Given the description of an element on the screen output the (x, y) to click on. 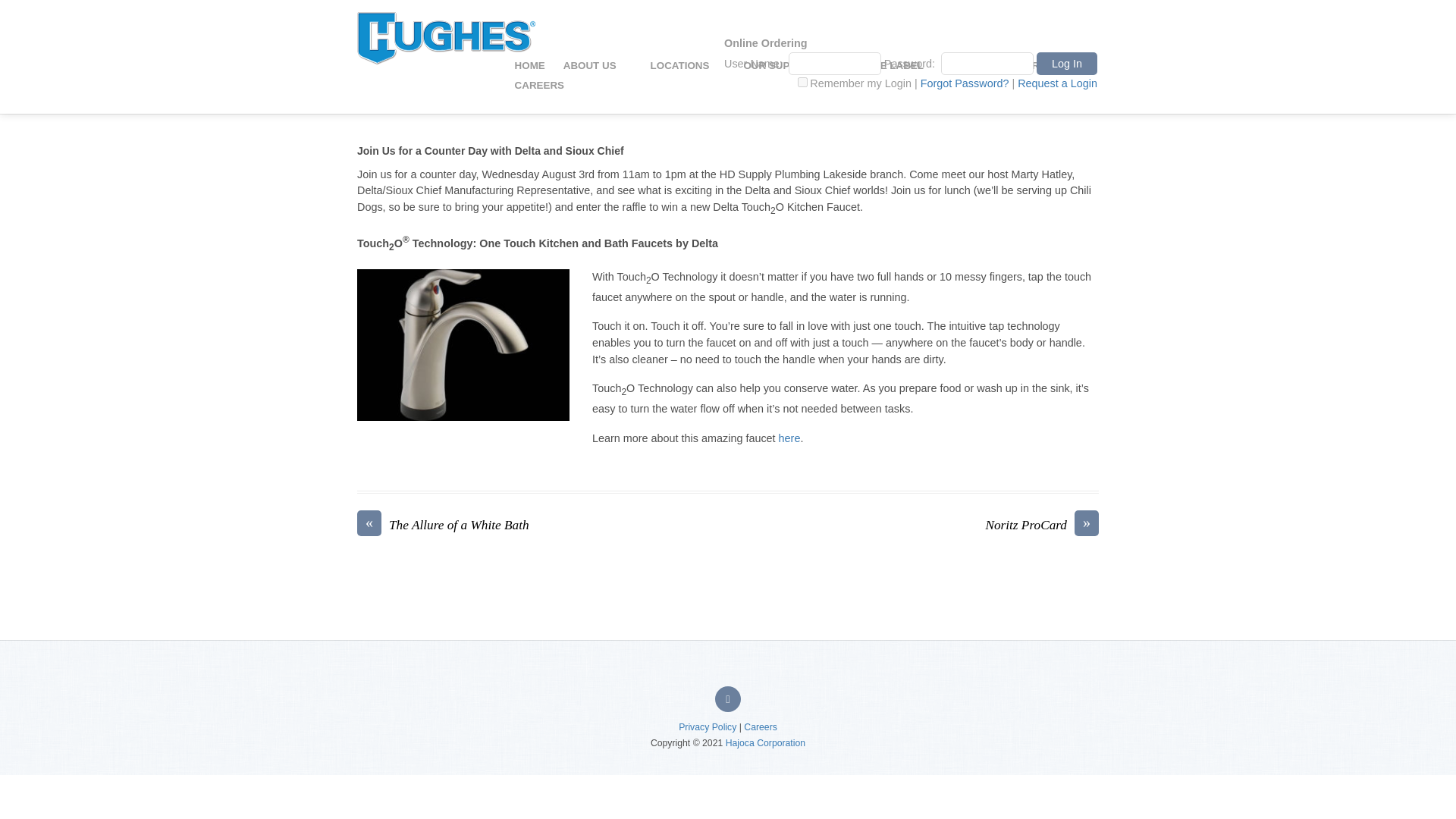
ABOUT US (598, 65)
HOME (529, 65)
Log In (1066, 63)
Learn More About the Delta Touch20 (789, 438)
Hughes Supply (445, 4)
on (802, 81)
LOCATIONS (688, 65)
hughes-web-logo-blkbg (445, 38)
